Given the description of an element on the screen output the (x, y) to click on. 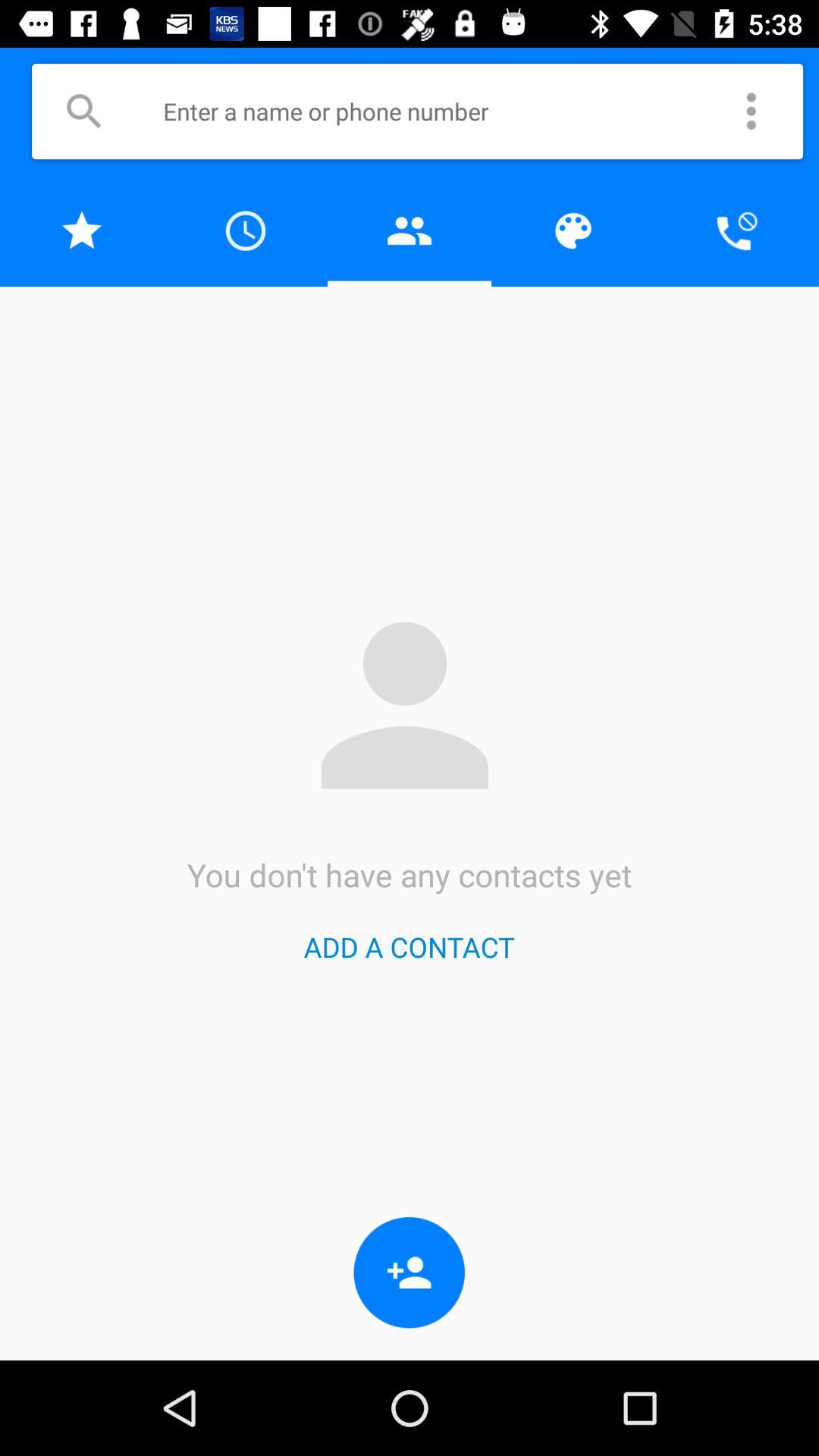
search (83, 111)
